Given the description of an element on the screen output the (x, y) to click on. 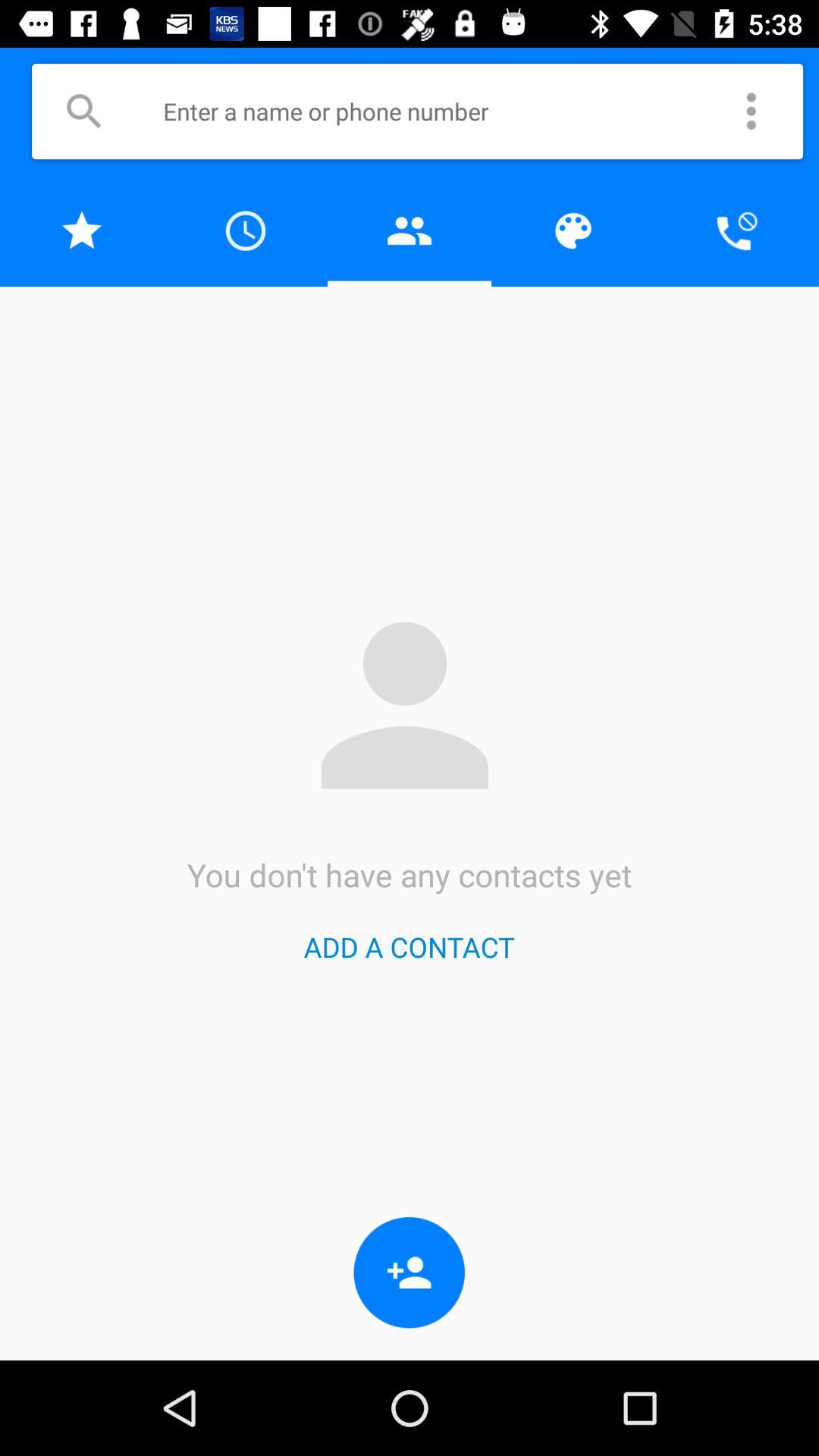
search (83, 111)
